Given the description of an element on the screen output the (x, y) to click on. 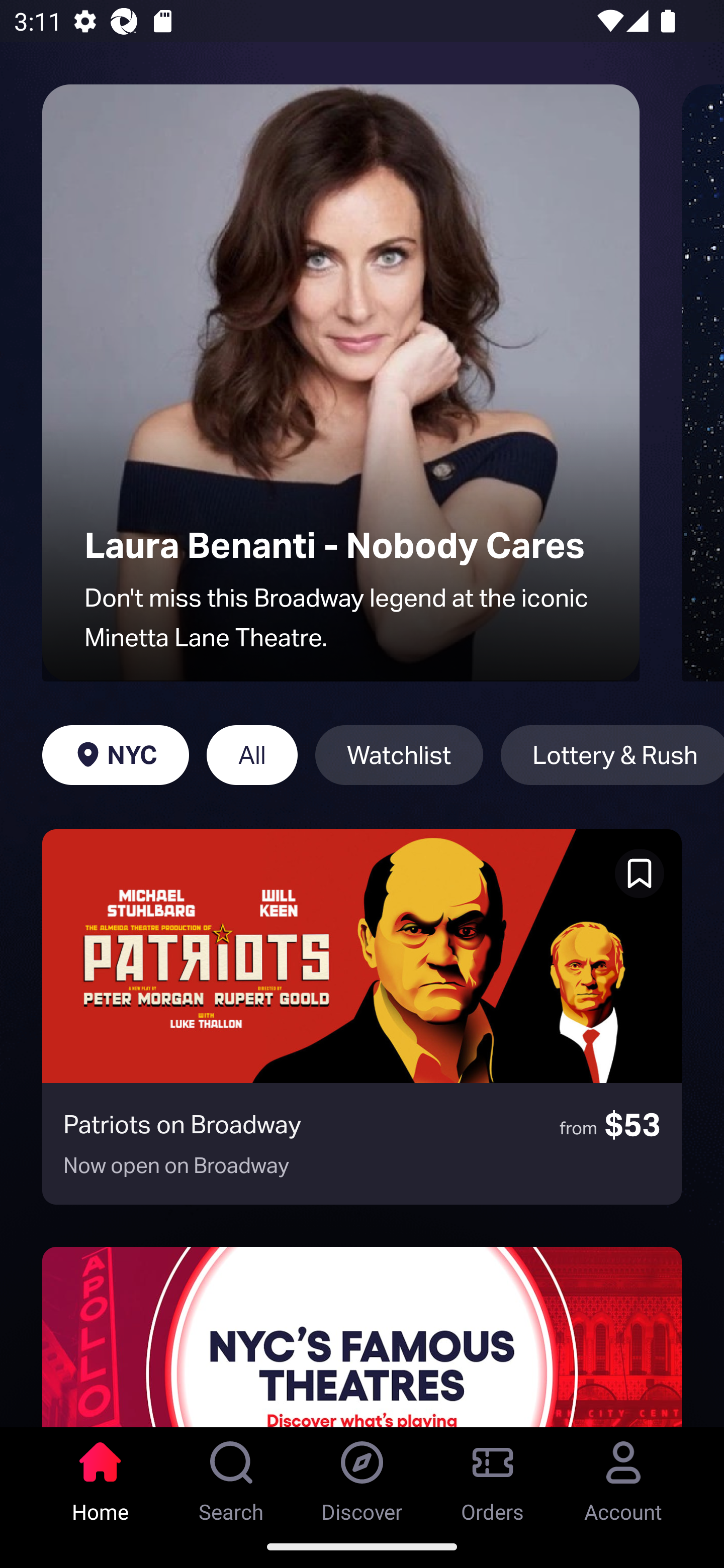
NYC (114, 754)
All (251, 754)
Watchlist (398, 754)
Lottery & Rush (612, 754)
Patriots on Broadway from $53 Now open on Broadway (361, 1016)
Search (230, 1475)
Discover (361, 1475)
Orders (492, 1475)
Account (623, 1475)
